Given the description of an element on the screen output the (x, y) to click on. 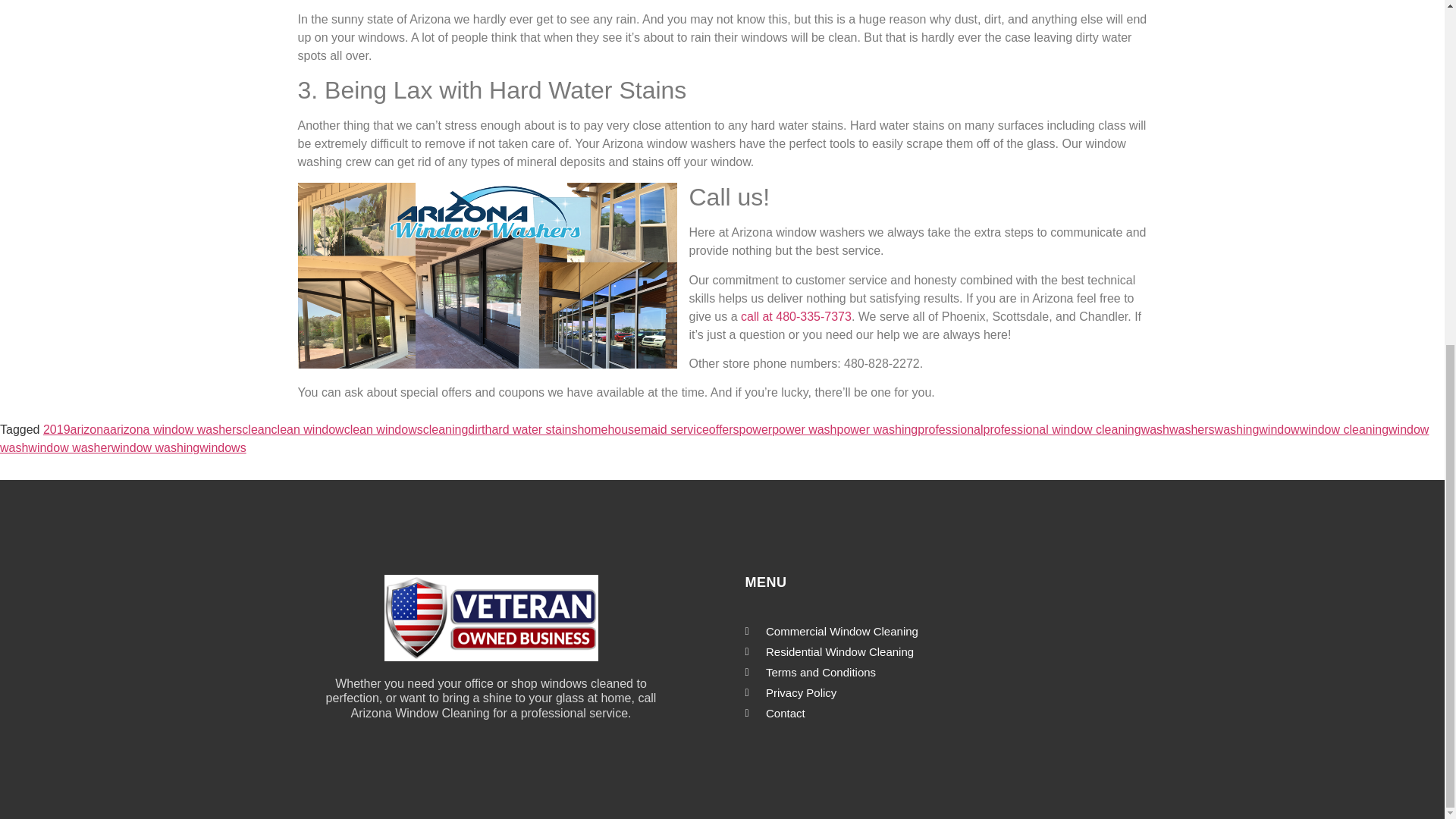
cleaning (445, 429)
dirt (475, 429)
arizona window washers (175, 429)
clean windows (383, 429)
clean (255, 429)
call at 480-335-7373 (796, 316)
2019 (56, 429)
power (756, 429)
maid service (674, 429)
house (623, 429)
power wash (803, 429)
home (591, 429)
arizona (89, 429)
hard water stains (531, 429)
offers (724, 429)
